Given the description of an element on the screen output the (x, y) to click on. 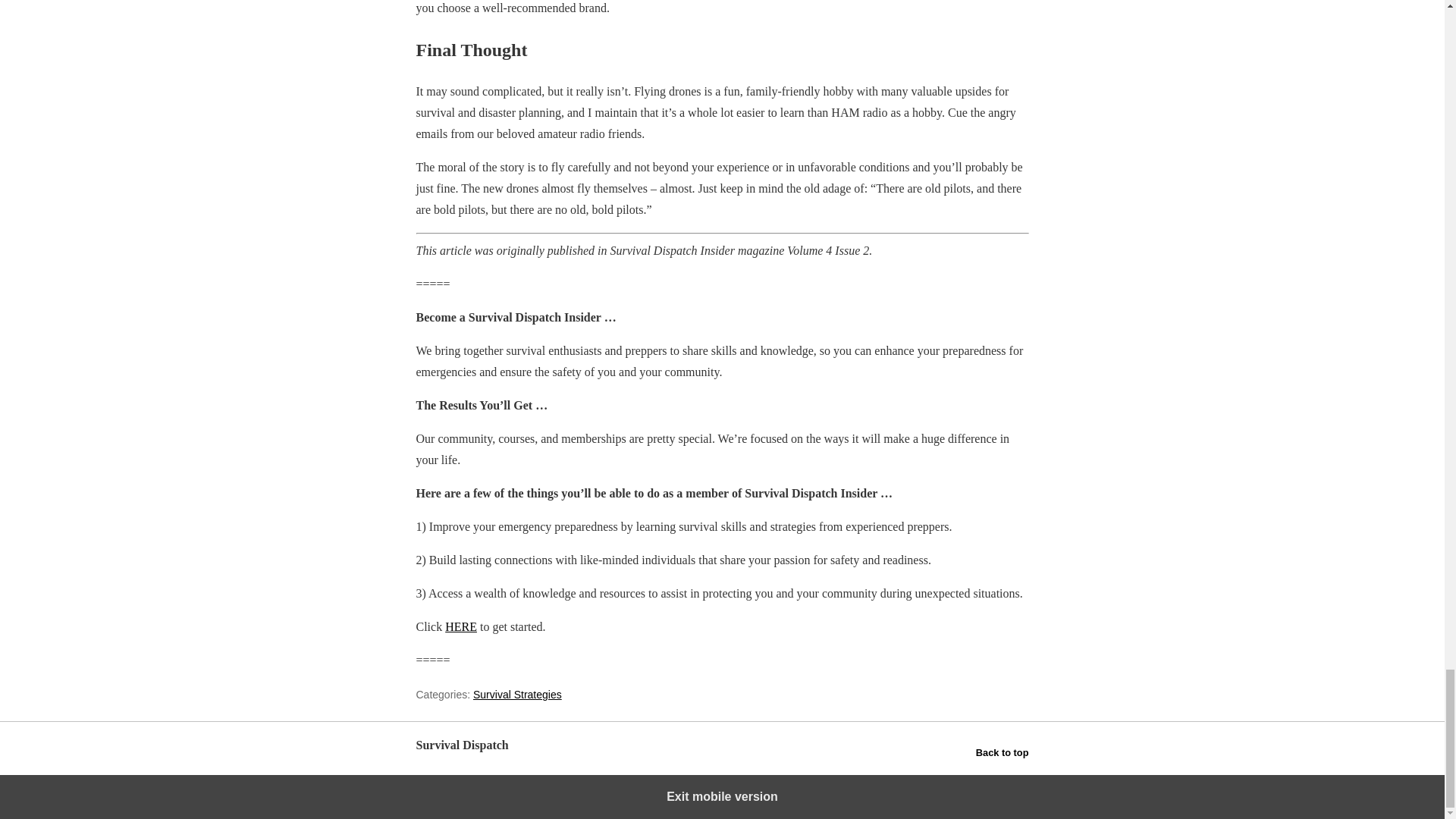
Survival Strategies (517, 694)
Back to top (1002, 752)
HERE (461, 626)
